Given the description of an element on the screen output the (x, y) to click on. 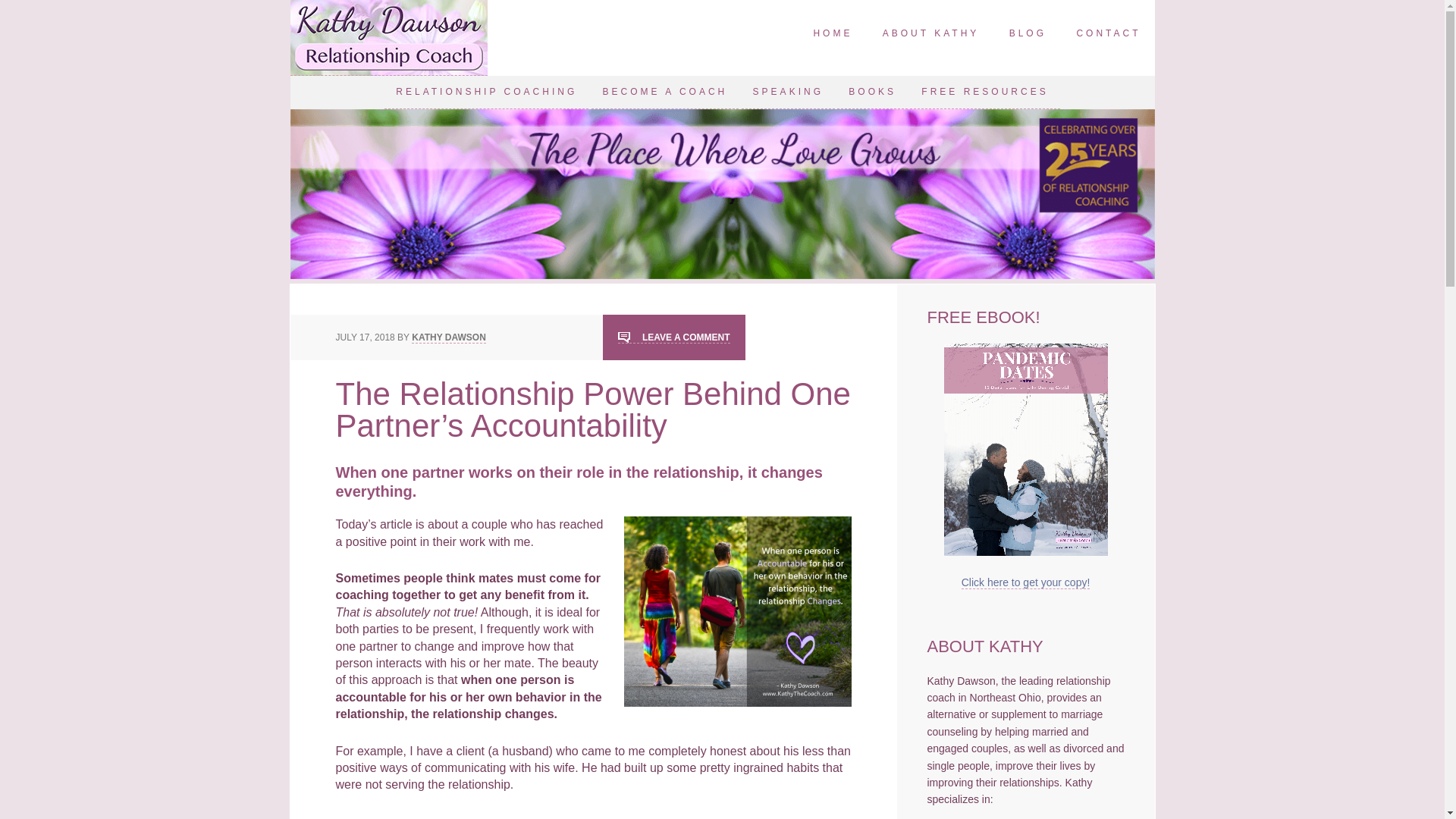
SPEAKING (787, 92)
Kathy The Coach (387, 38)
RELATIONSHIP COACHING (486, 92)
HOME (832, 34)
BLOG (1027, 34)
LEAVE A COMMENT (673, 337)
ABOUT KATHY (930, 34)
CONTACT (1108, 34)
Click here to get your copy! (1025, 582)
FREE RESOURCES (984, 92)
